Given the description of an element on the screen output the (x, y) to click on. 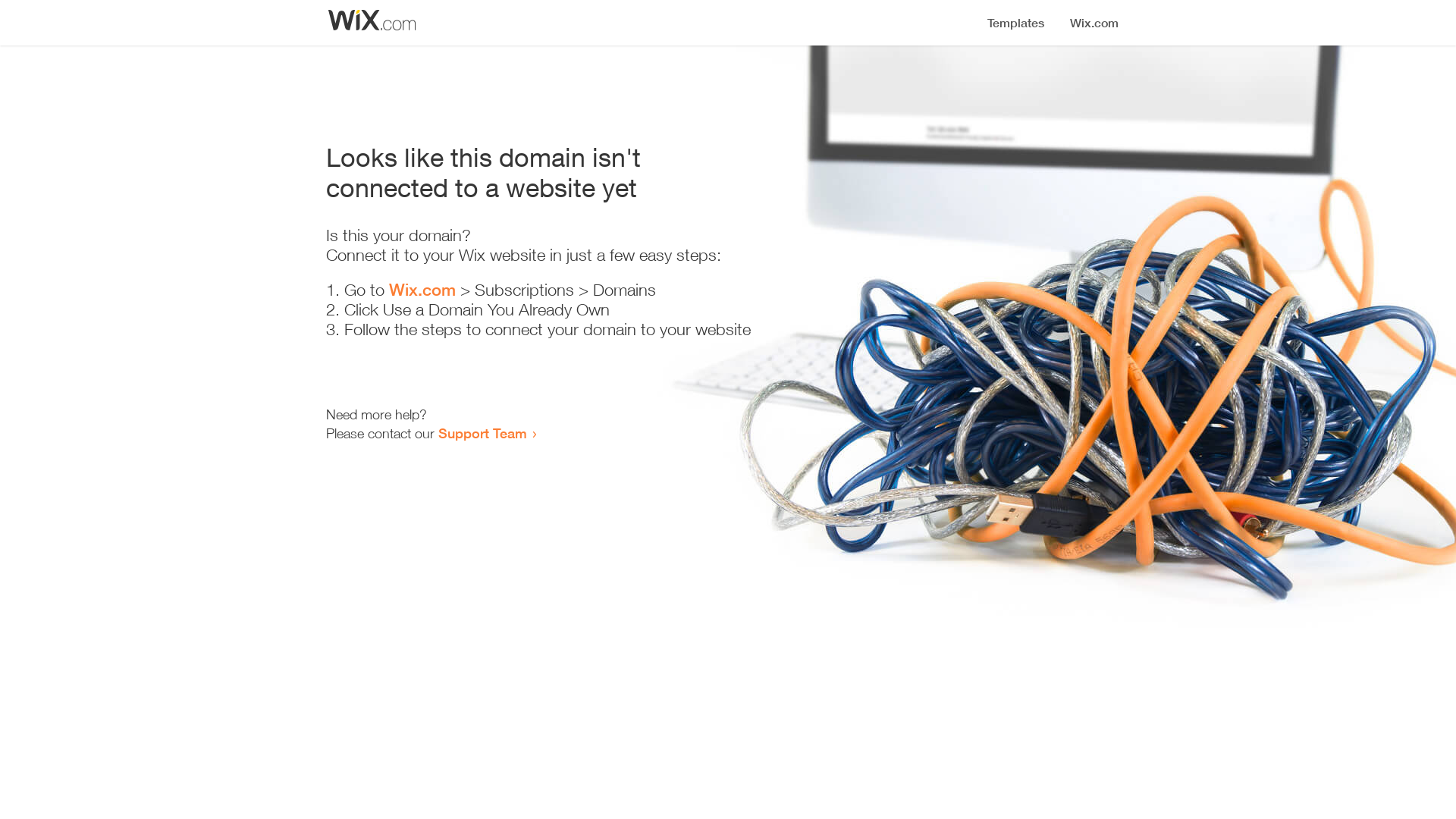
Support Team Element type: text (482, 432)
Wix.com Element type: text (422, 289)
